Given the description of an element on the screen output the (x, y) to click on. 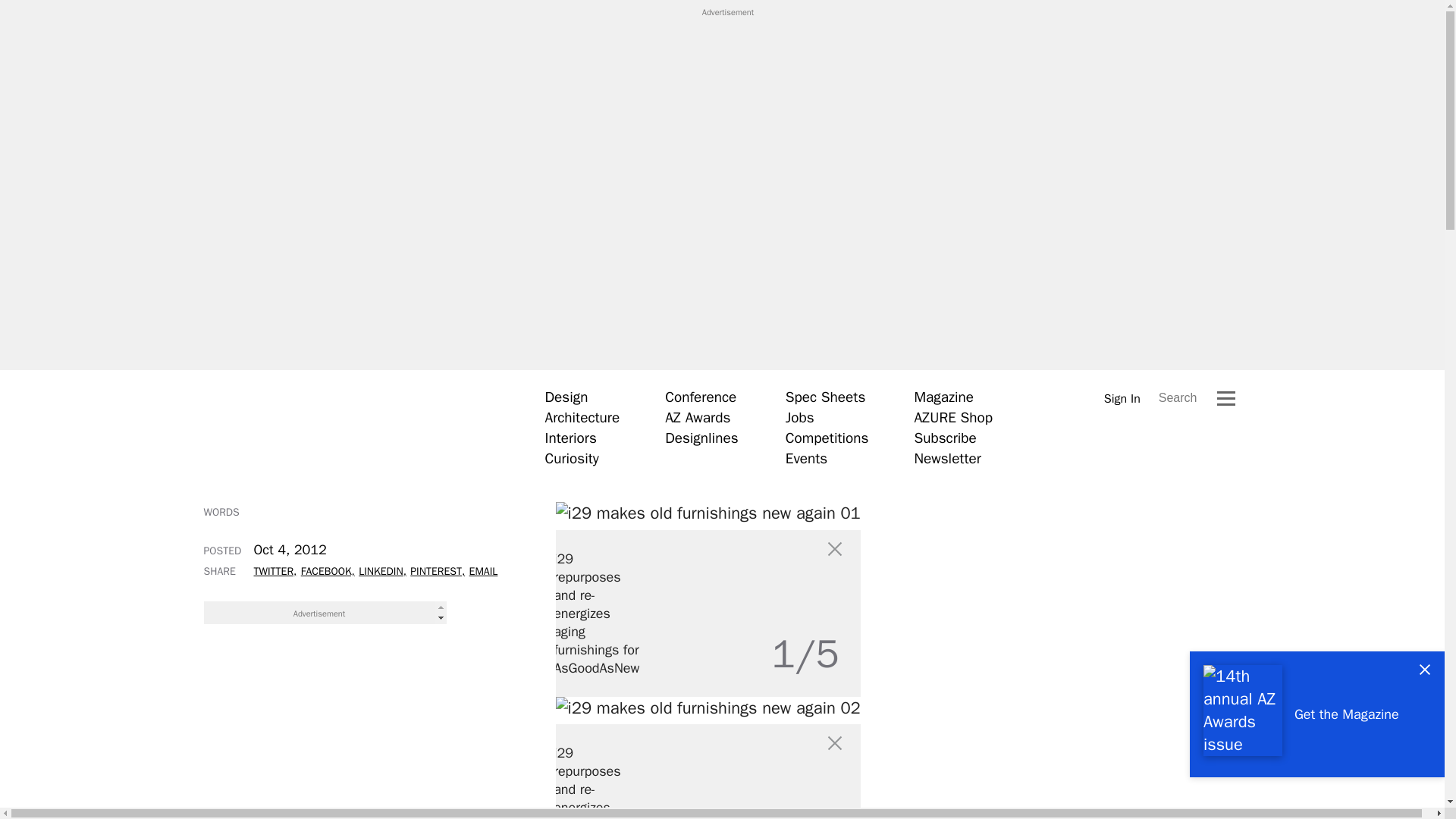
Competitions (827, 438)
AZURE Shop (953, 417)
Sign In (1122, 398)
Events (806, 458)
Designlines (701, 438)
Azure Magazine (351, 426)
Jobs (799, 417)
Magazine (944, 397)
Conference (700, 397)
Subscribe (944, 438)
Spec Sheets (825, 397)
Curiosity (571, 458)
AZ Awards (697, 417)
Design (566, 397)
Architecture (582, 417)
